Given the description of an element on the screen output the (x, y) to click on. 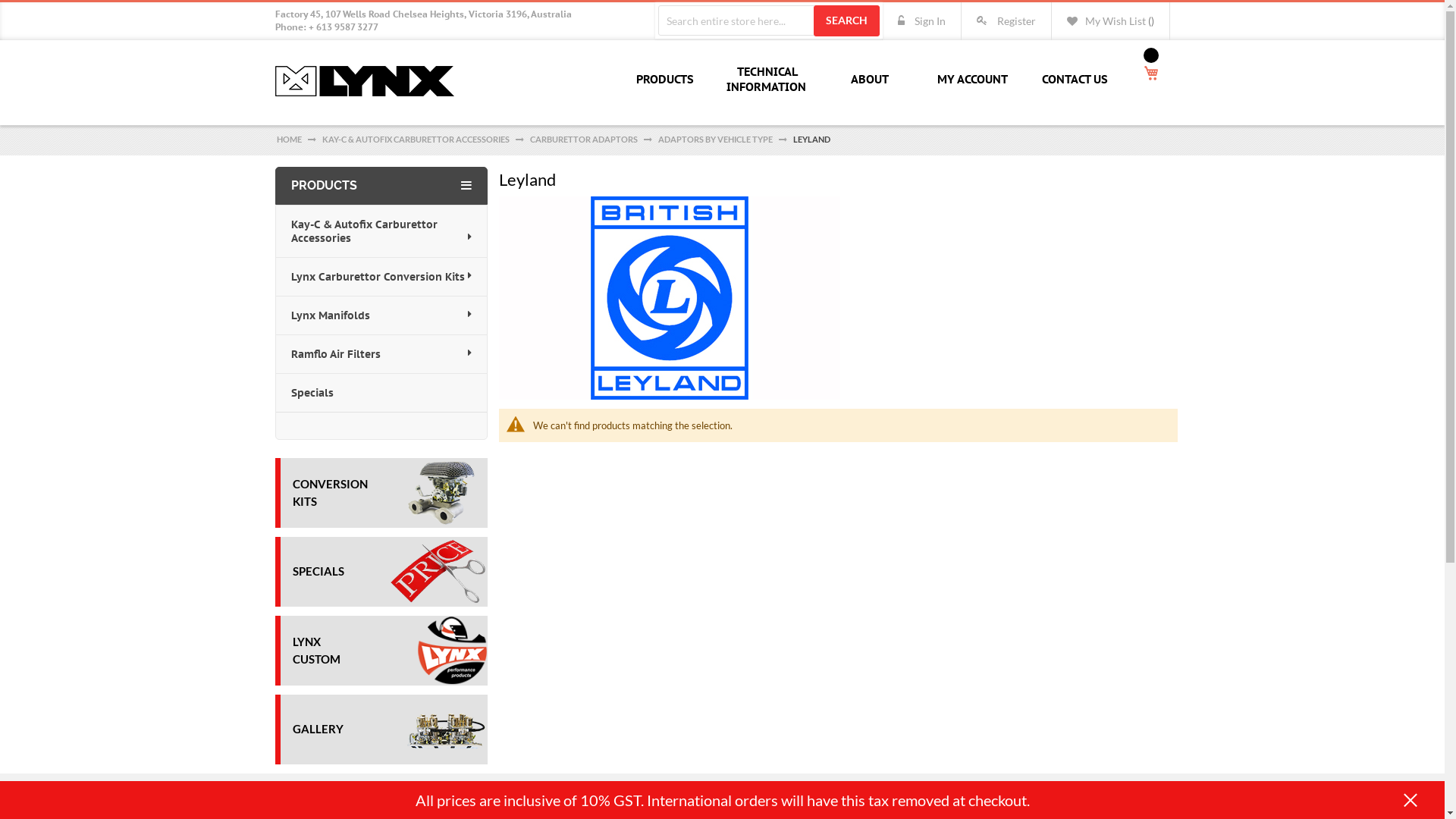
CONVERSION KITS Element type: text (329, 492)
 PRODUCTS Element type: text (663, 79)
Kay-C & Autofix Carburettor Accessories Element type: text (381, 231)
Sign In Element type: text (921, 21)
 CONTACT US Element type: text (1072, 79)
Leyland Element type: hover (669, 297)
 MY ACCOUNT Element type: text (970, 79)
 TECHNICAL INFORMATION Element type: text (765, 79)
+ 613 9587 3277 Element type: text (342, 26)
My Wish List Element type: text (1109, 21)
HOME Element type: text (289, 139)
Lynx Manifolds Element type: text (381, 315)
LYNX CUSTOM Element type: text (316, 649)
SPECIALS Element type: text (318, 570)
Lynx Manifold Element type: hover (363, 80)
Lynx Carburettor Conversion Kits Element type: text (381, 276)
SEARCH Element type: text (845, 20)
CARBURETTOR ADAPTORS Element type: text (583, 139)
 ABOUT Element type: text (867, 79)
Specials Element type: text (381, 392)
My Cart Element type: text (1150, 72)
KAY-C & AUTOFIX CARBURETTOR ACCESSORIES Element type: text (415, 139)
Ramflo Air Filters Element type: text (381, 354)
ADAPTORS BY VEHICLE TYPE Element type: text (716, 139)
GALLERY Element type: text (317, 728)
Register Element type: text (1006, 21)
